Given the description of an element on the screen output the (x, y) to click on. 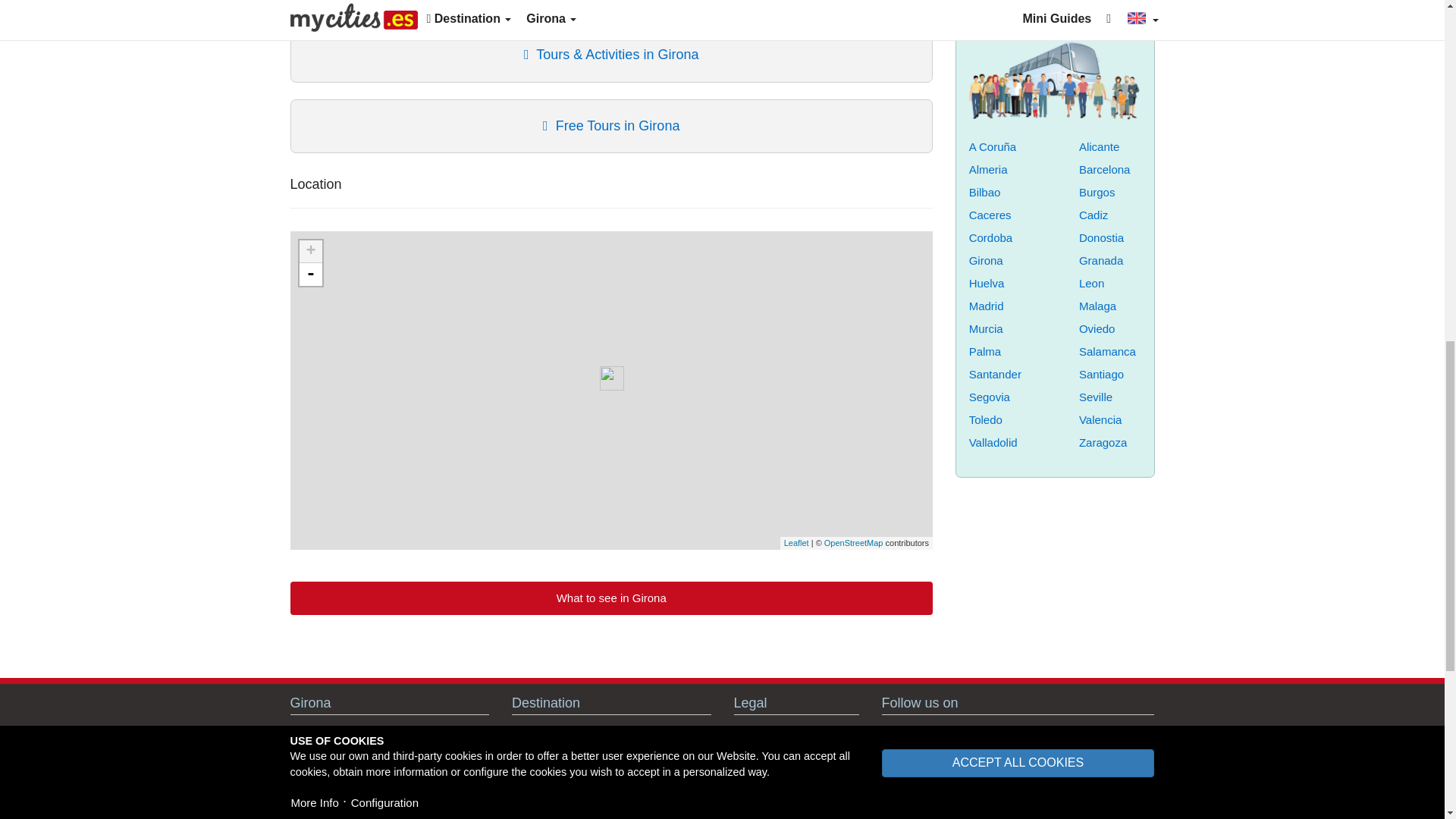
Zoom out (309, 273)
A JS library for interactive maps (796, 542)
Zoom in (309, 251)
